Given the description of an element on the screen output the (x, y) to click on. 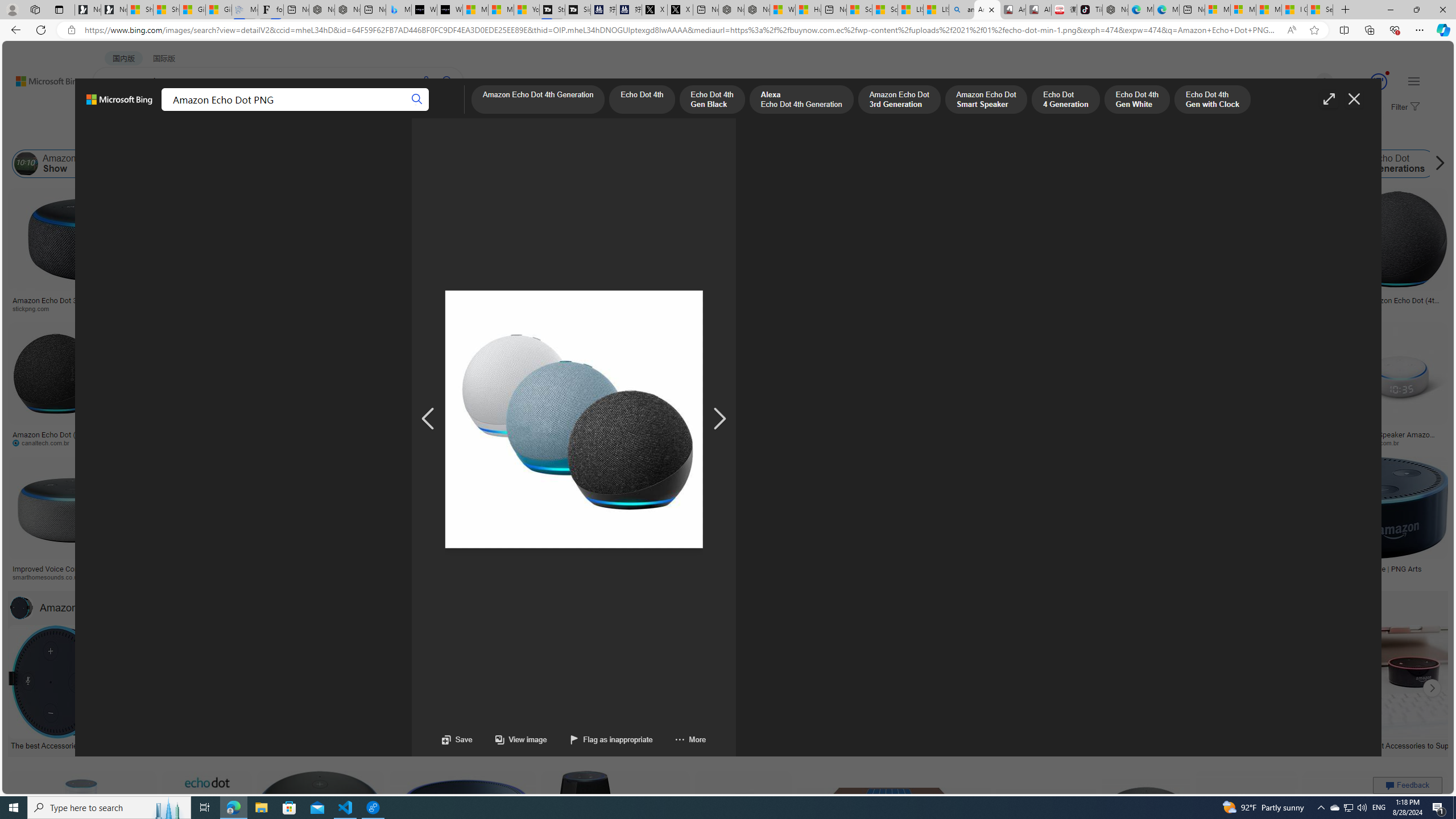
smarthomesounds.co.uk (50, 576)
Amazonecho Dot With Alexa (Gen 4) (1203, 568)
FrAndroid (431, 308)
Amazon Alexa Echo (129, 163)
Amazon Echo Plus (1062, 163)
